Given the description of an element on the screen output the (x, y) to click on. 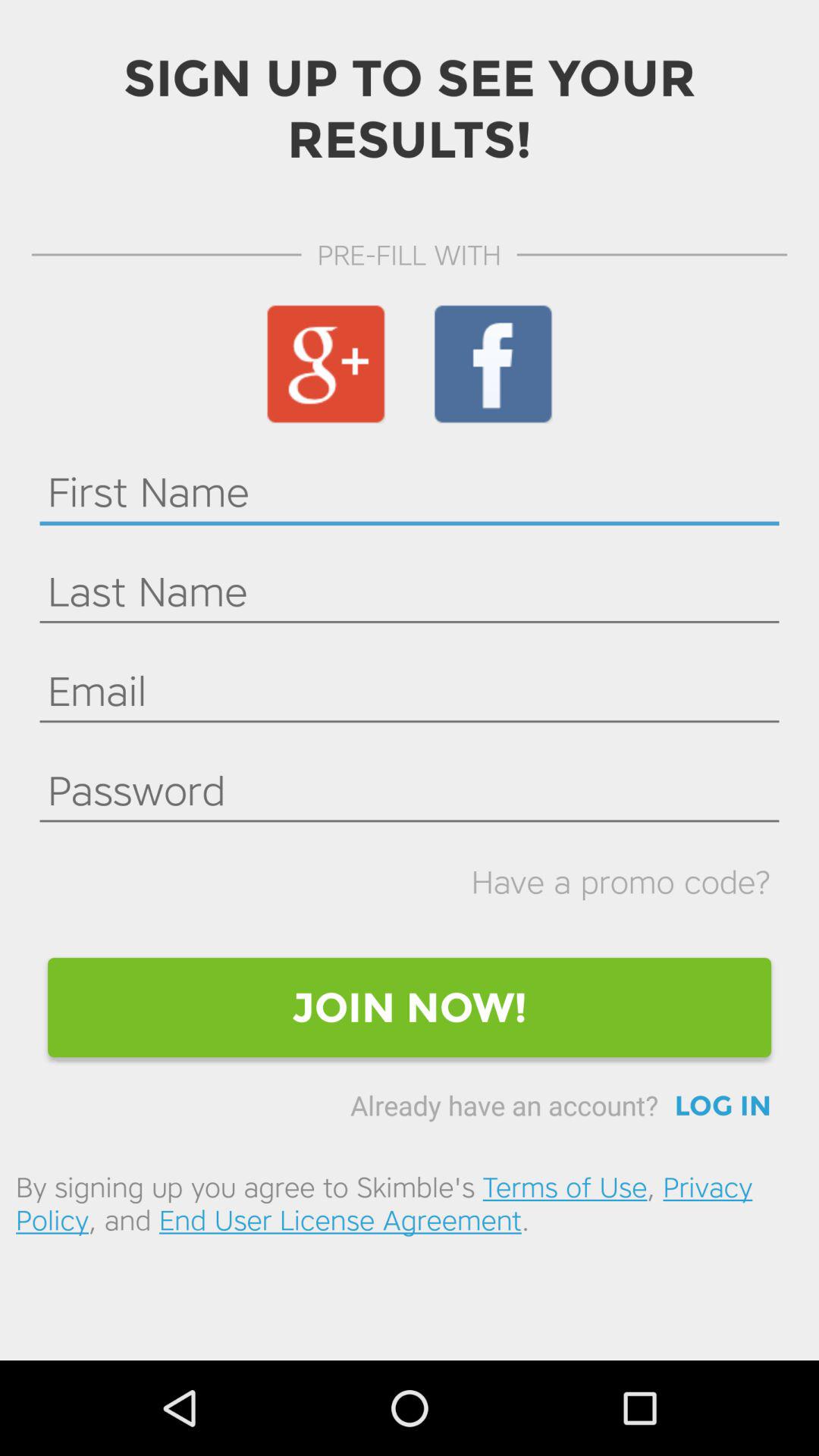
choose the log in (722, 1105)
